Given the description of an element on the screen output the (x, y) to click on. 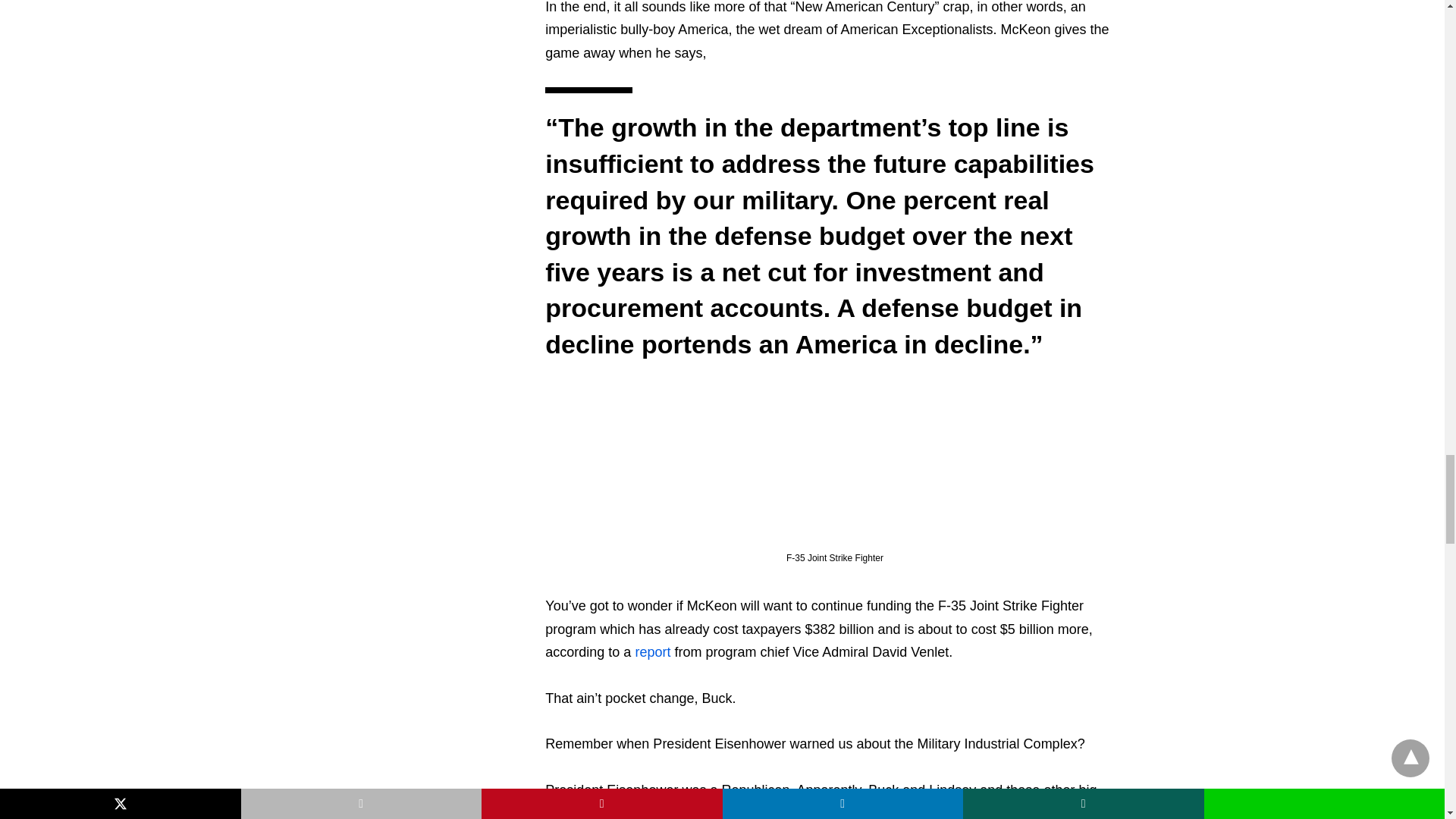
report (651, 652)
